Given the description of an element on the screen output the (x, y) to click on. 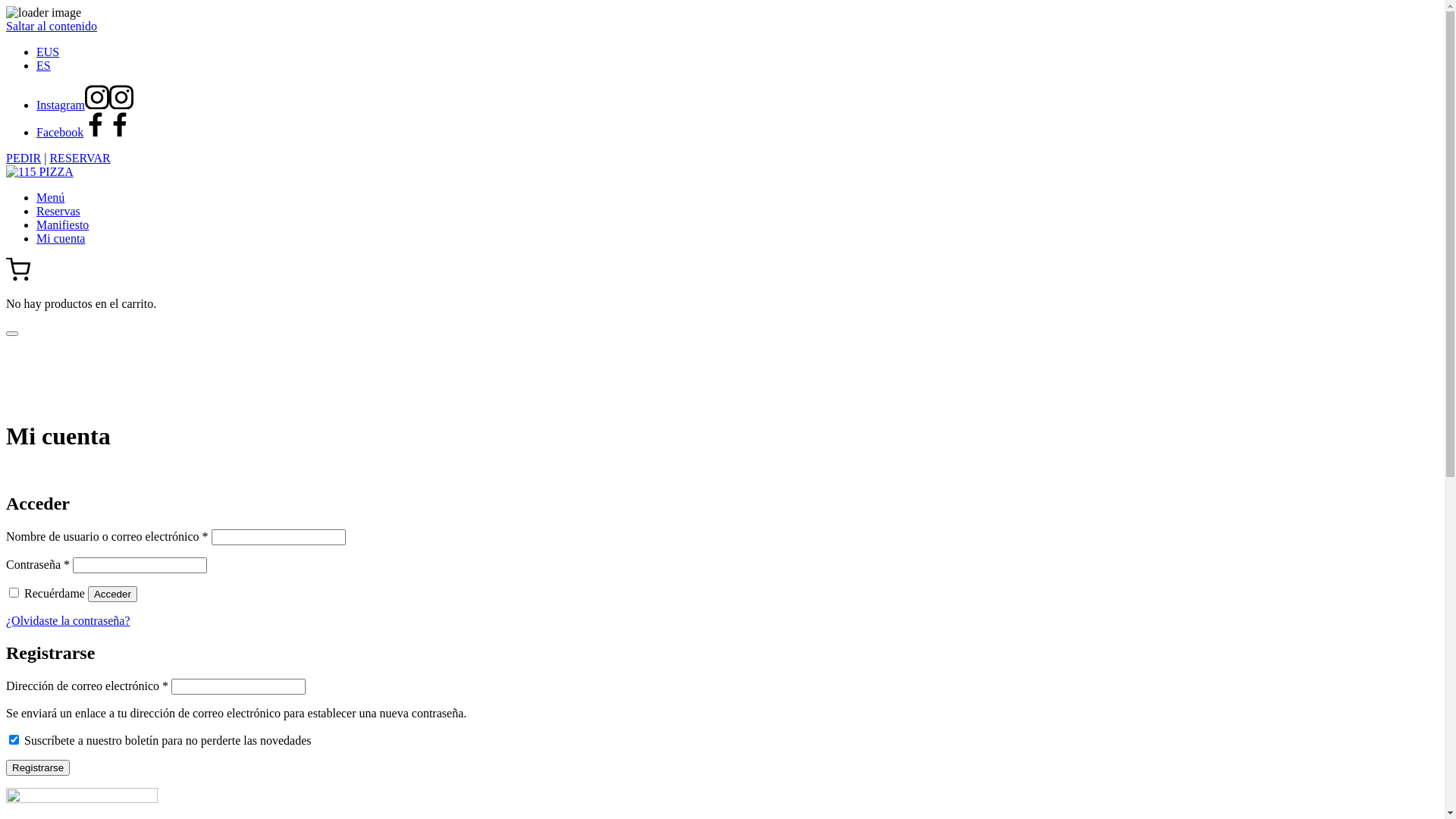
Mi cuenta Element type: text (60, 238)
Registrarse Element type: text (37, 767)
Saltar al contenido Element type: text (51, 25)
EUS Element type: text (47, 51)
Acceder Element type: text (112, 594)
Instagram Element type: text (84, 104)
ES Element type: text (43, 65)
RESERVAR Element type: text (79, 157)
Manifiesto Element type: text (62, 224)
Reservas Element type: text (58, 210)
PEDIR Element type: text (23, 157)
Facebook Element type: text (83, 131)
